Given the description of an element on the screen output the (x, y) to click on. 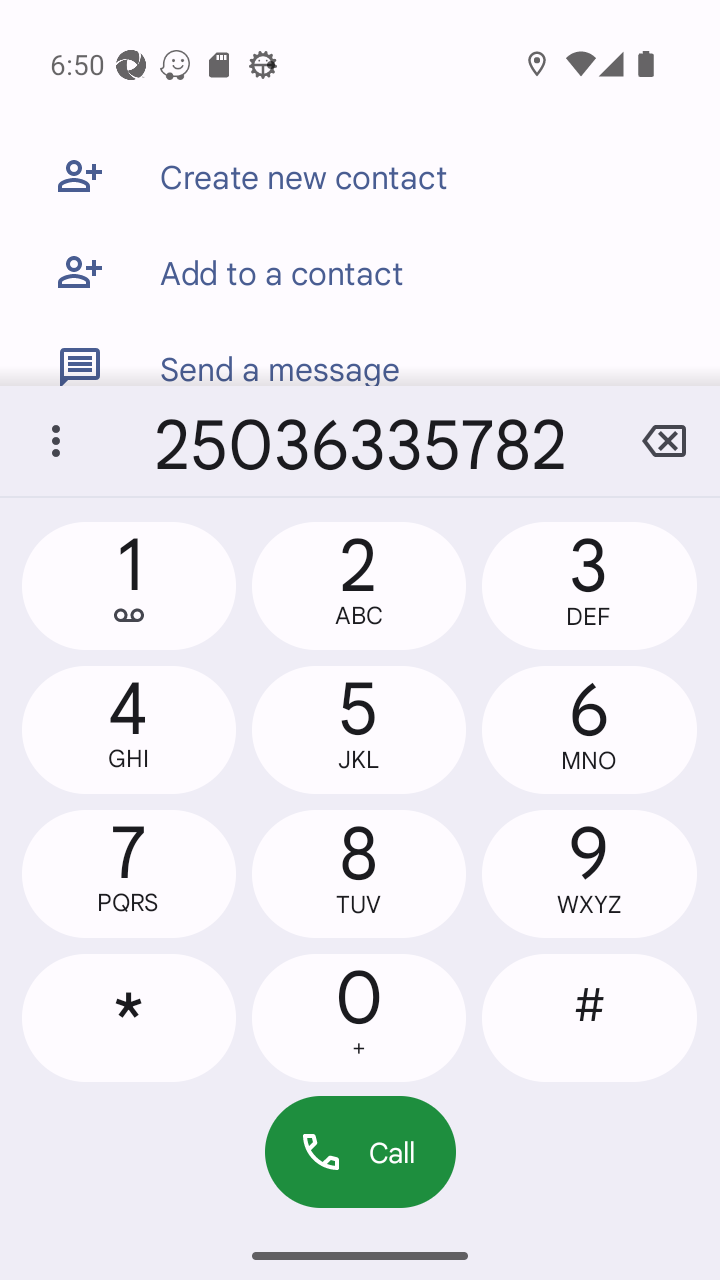
Create new contact (360, 176)
Add to a contact (360, 272)
Send a message (360, 353)
More options (56, 441)
25036335782 (359, 441)
backspace (663, 441)
1, 1 (129, 586)
2,ABC 2 ABC (358, 586)
3,DEF 3 DEF (588, 586)
4,GHI 4 GHI (129, 729)
5,JKL 5 JKL (358, 729)
6,MNO 6 MNO (588, 729)
7,PQRS 7 PQRS (129, 874)
8,TUV 8 TUV (358, 874)
9,WXYZ 9 WXYZ (588, 874)
* (129, 1017)
0 0 + (358, 1017)
# (588, 1017)
Call dial (359, 1151)
